Given the description of an element on the screen output the (x, y) to click on. 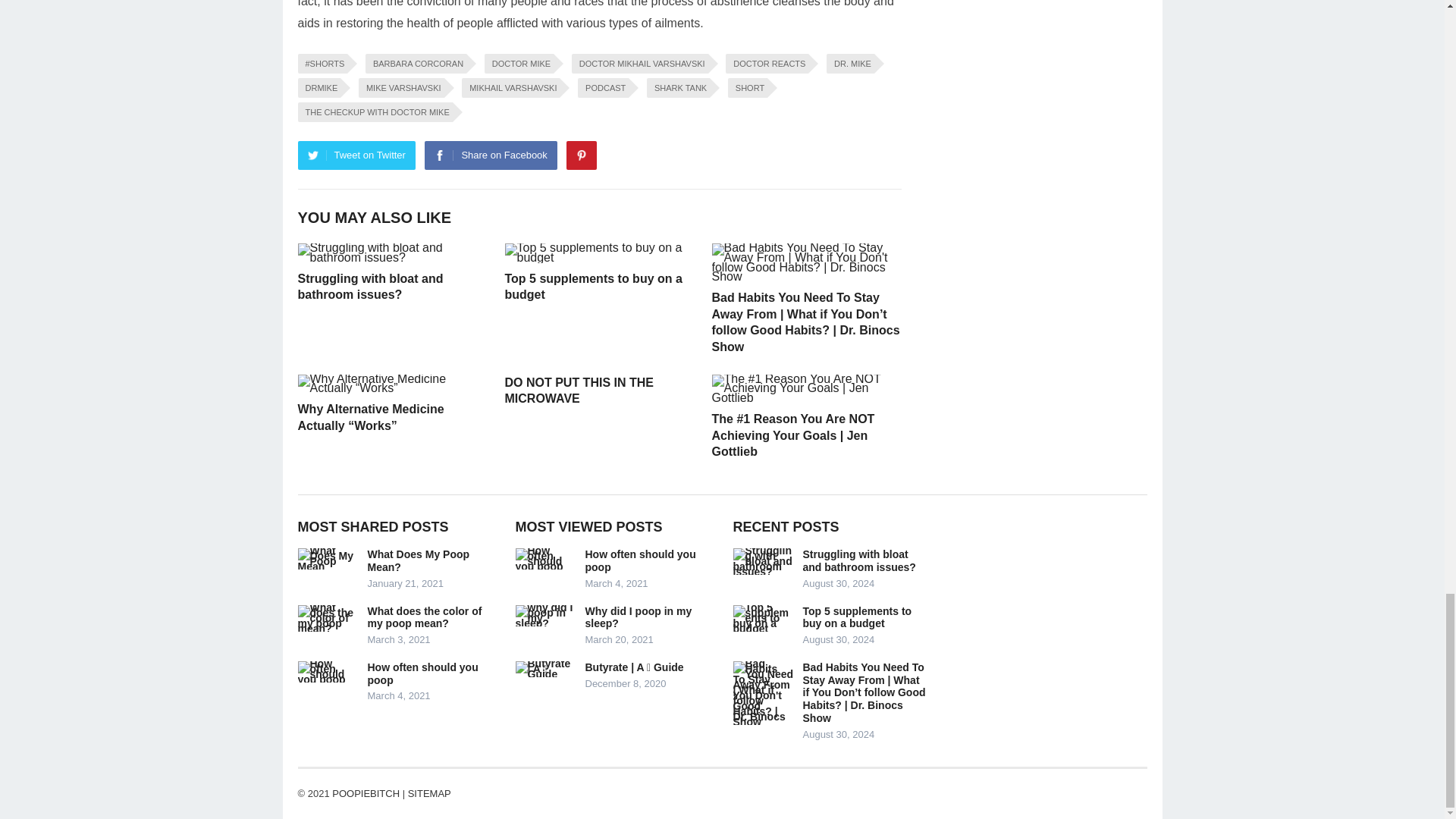
Struggling with bloat and bathroom issues? 2 (391, 252)
BARBARA CORCORAN (415, 63)
MIKE VARSHAVSKI (401, 87)
DRMIKE (318, 87)
DOCTOR MIKHAIL VARSHAVSKI (639, 63)
DOCTOR REACTS (766, 63)
Top 5 supplements to buy on a budget 4 (599, 252)
DR. MIKE (851, 63)
DOCTOR MIKE (518, 63)
